Given the description of an element on the screen output the (x, y) to click on. 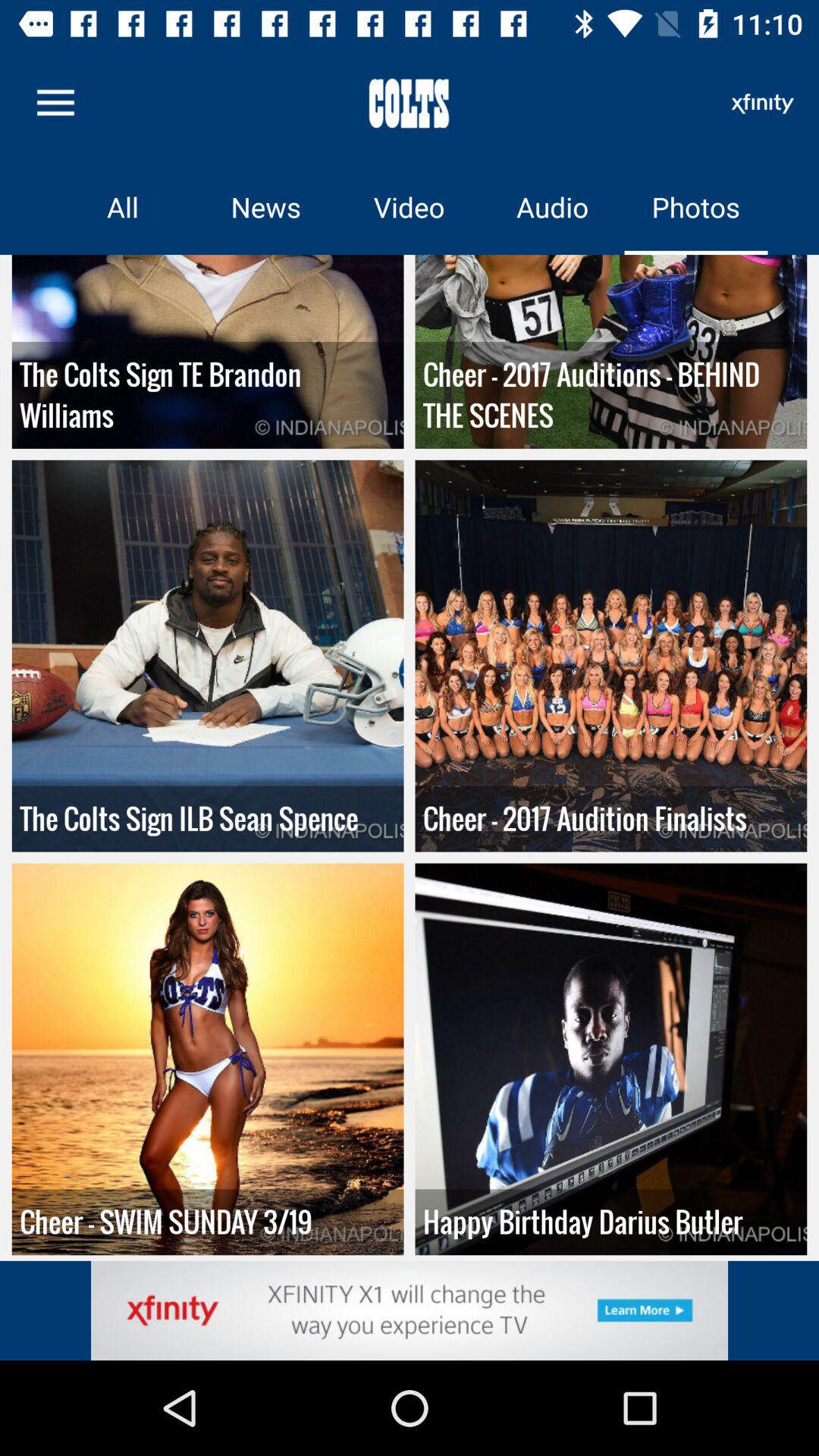
advertisement (409, 1310)
